Given the description of an element on the screen output the (x, y) to click on. 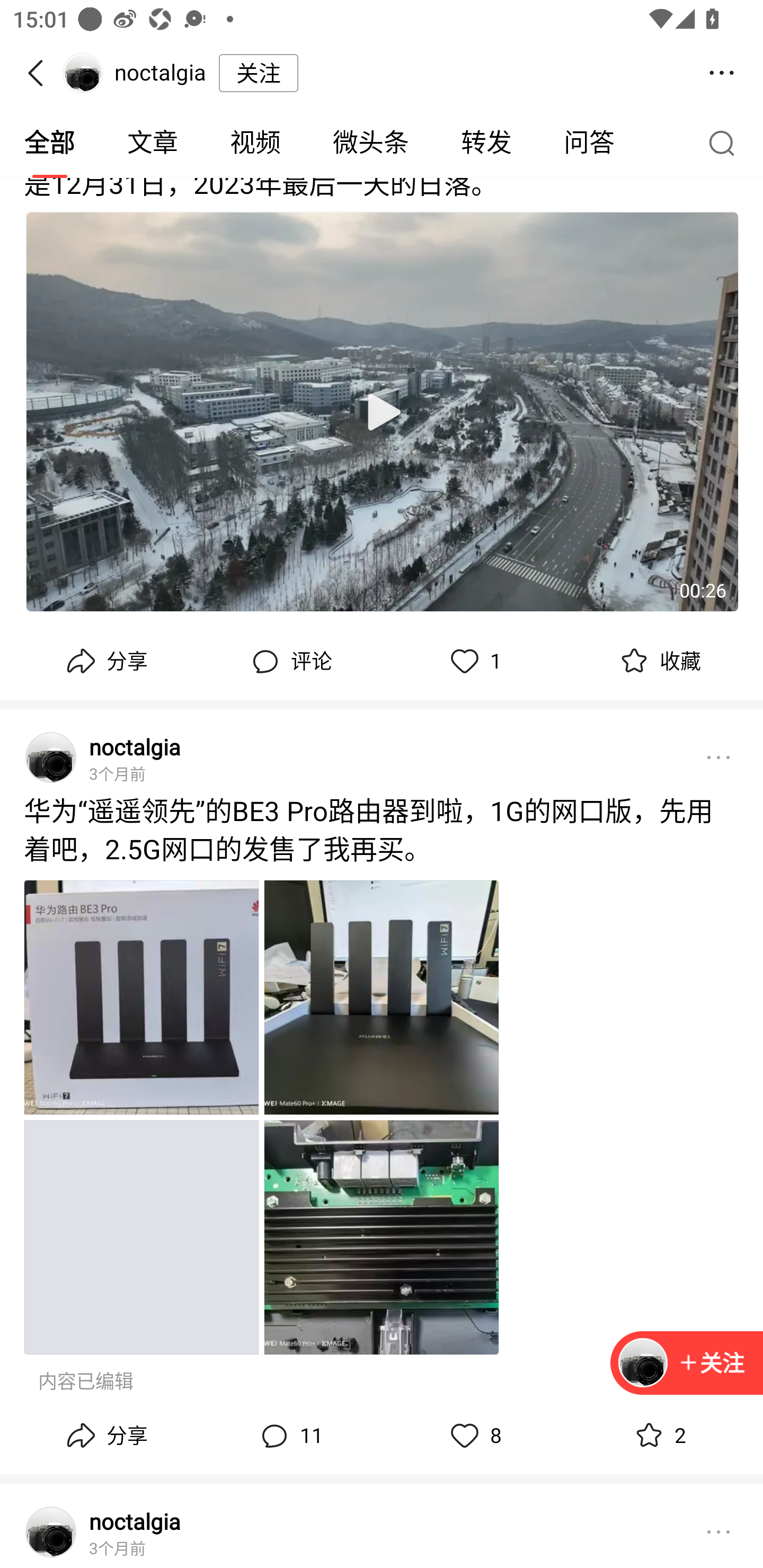
返回 (41, 72)
更多操作 (721, 72)
关注 (258, 72)
全部 (50, 143)
文章 (152, 143)
视频 (254, 143)
微头条 (370, 143)
转发 (485, 143)
问答 (588, 143)
搜索 (726, 142)
00:26 (382, 412)
分享 (104, 661)
评论, 评论 (288, 661)
,收藏 收藏 (658, 661)
noctalgia (134, 747)
noctalgia头像 (50, 757)
更多 (718, 757)
内容图片1，点击识别 (141, 996)
内容图片2，点击识别 (381, 996)
内容图片4，点击识别 (381, 1236)
    关注 (686, 1363)
    关注 (711, 1362)
内容已编辑 (85, 1381)
分享 (104, 1435)
评论,11 11 (288, 1435)
收藏,2 2 (658, 1435)
noctalgia (134, 1520)
noctalgia头像 (50, 1531)
更多 (718, 1531)
